Given the description of an element on the screen output the (x, y) to click on. 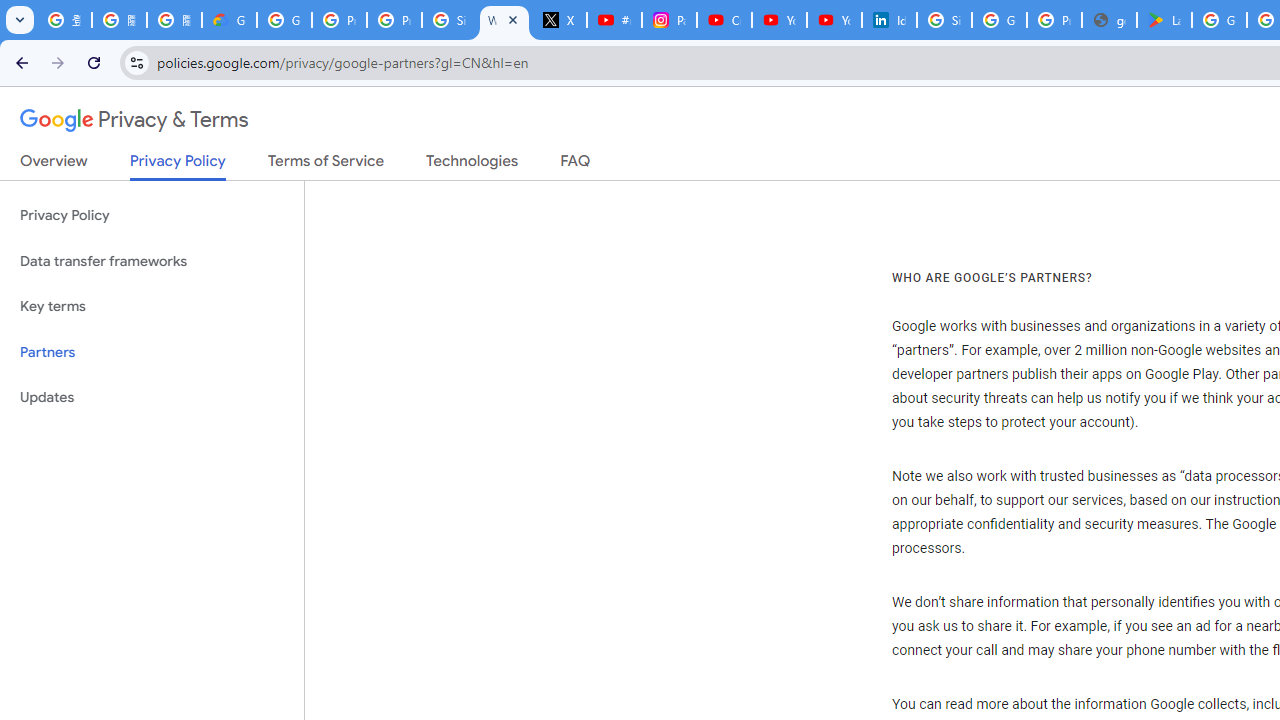
Privacy Help Center - Policies Help (339, 20)
Sign in - Google Accounts (449, 20)
